Given the description of an element on the screen output the (x, y) to click on. 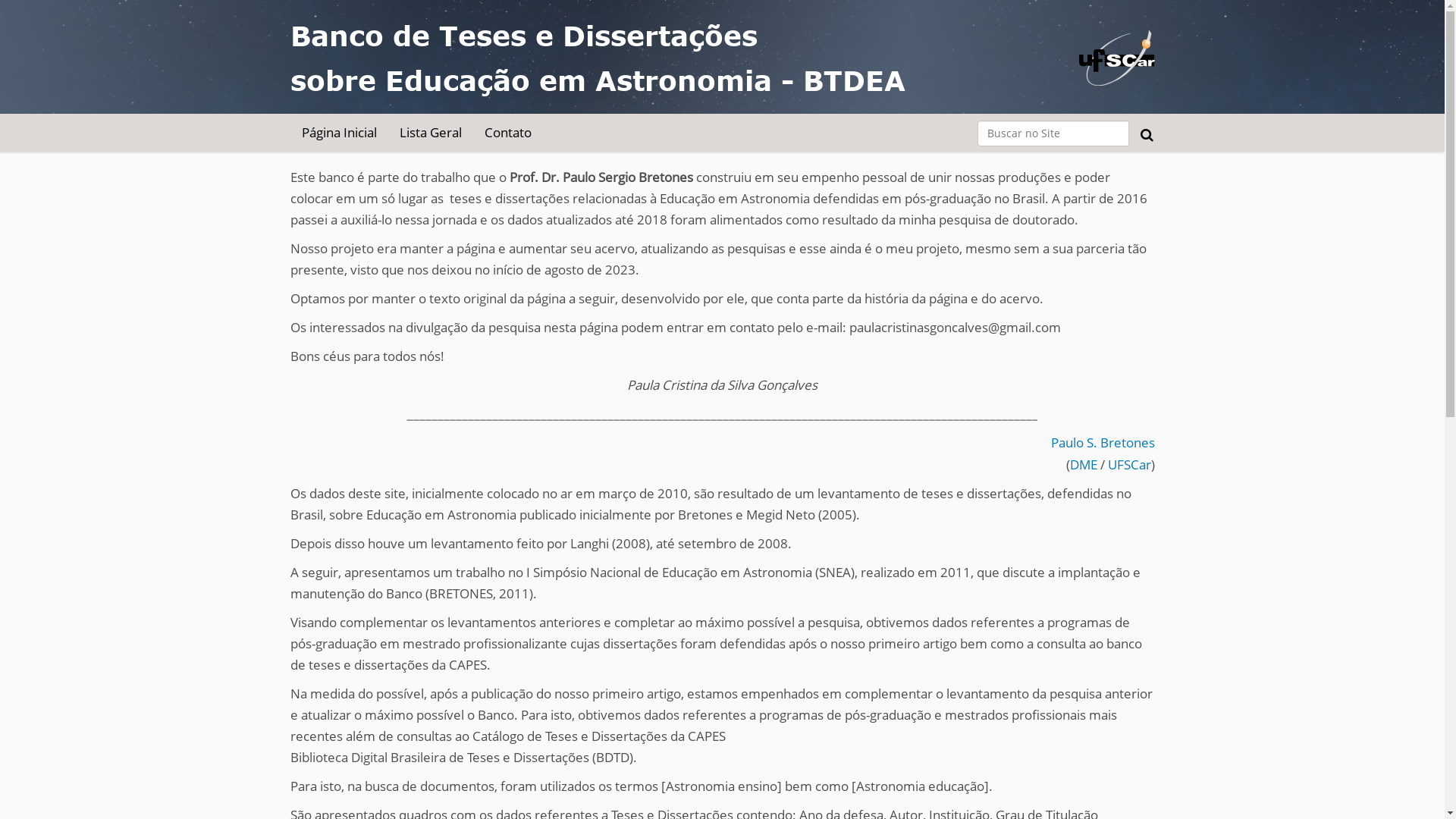
Contato Element type: text (507, 132)
Lista Geral Element type: text (430, 132)
UFSCar Element type: text (1128, 464)
Portal UFSCar Element type: hover (1116, 41)
DME Element type: text (1082, 464)
Paulo S. Bretones Element type: text (1102, 442)
Buscar no Site Element type: hover (1053, 133)
